Given the description of an element on the screen output the (x, y) to click on. 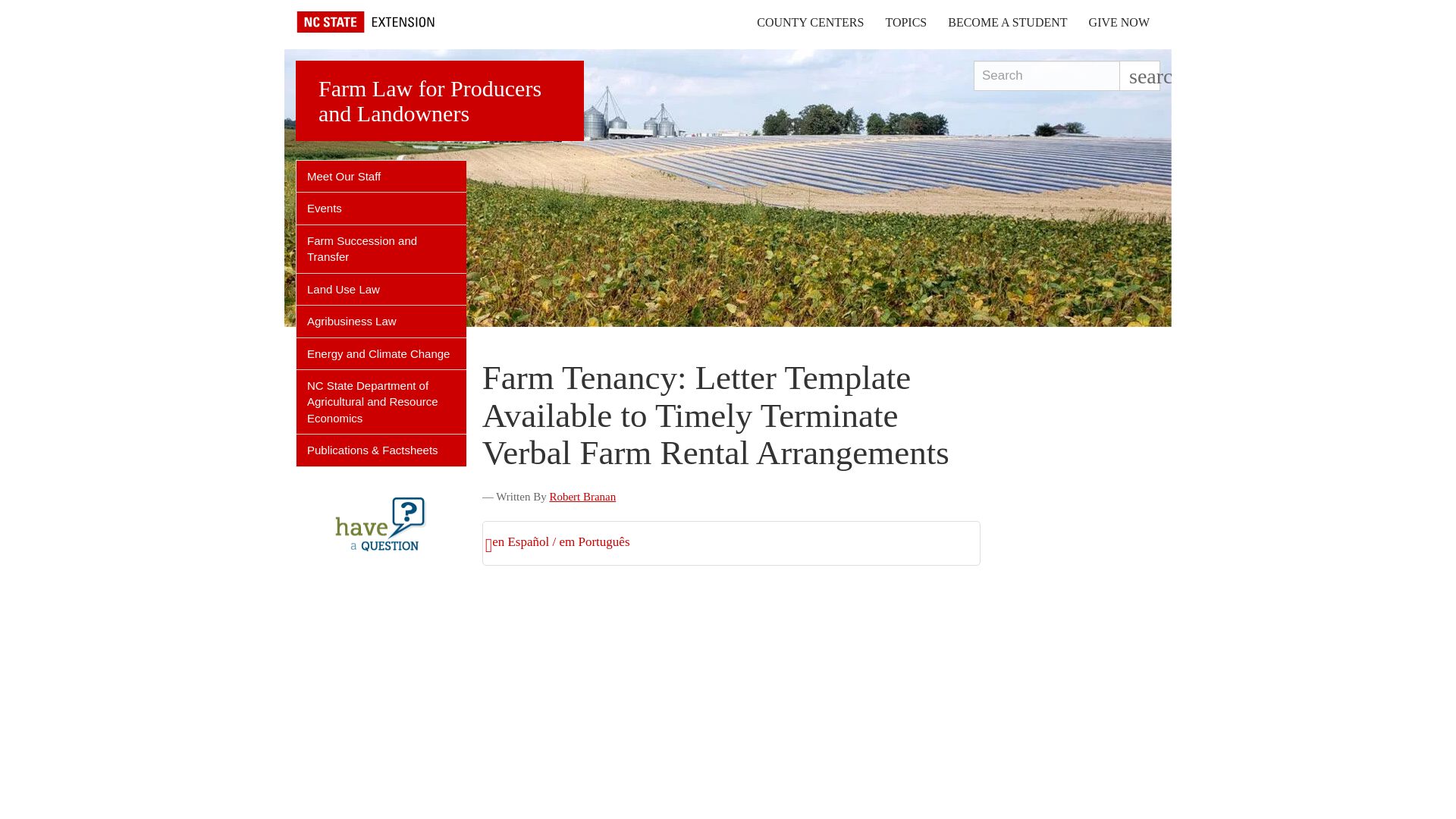
Events (381, 207)
Meet Our Staff (381, 175)
Land Use Law (381, 288)
Farm Succession and Transfer (381, 248)
NC State Department of Agricultural and Resource Economics (381, 402)
TOPICS (906, 22)
Search (1046, 75)
Energy and Climate Change (381, 353)
Robert Branan (581, 495)
